Given the description of an element on the screen output the (x, y) to click on. 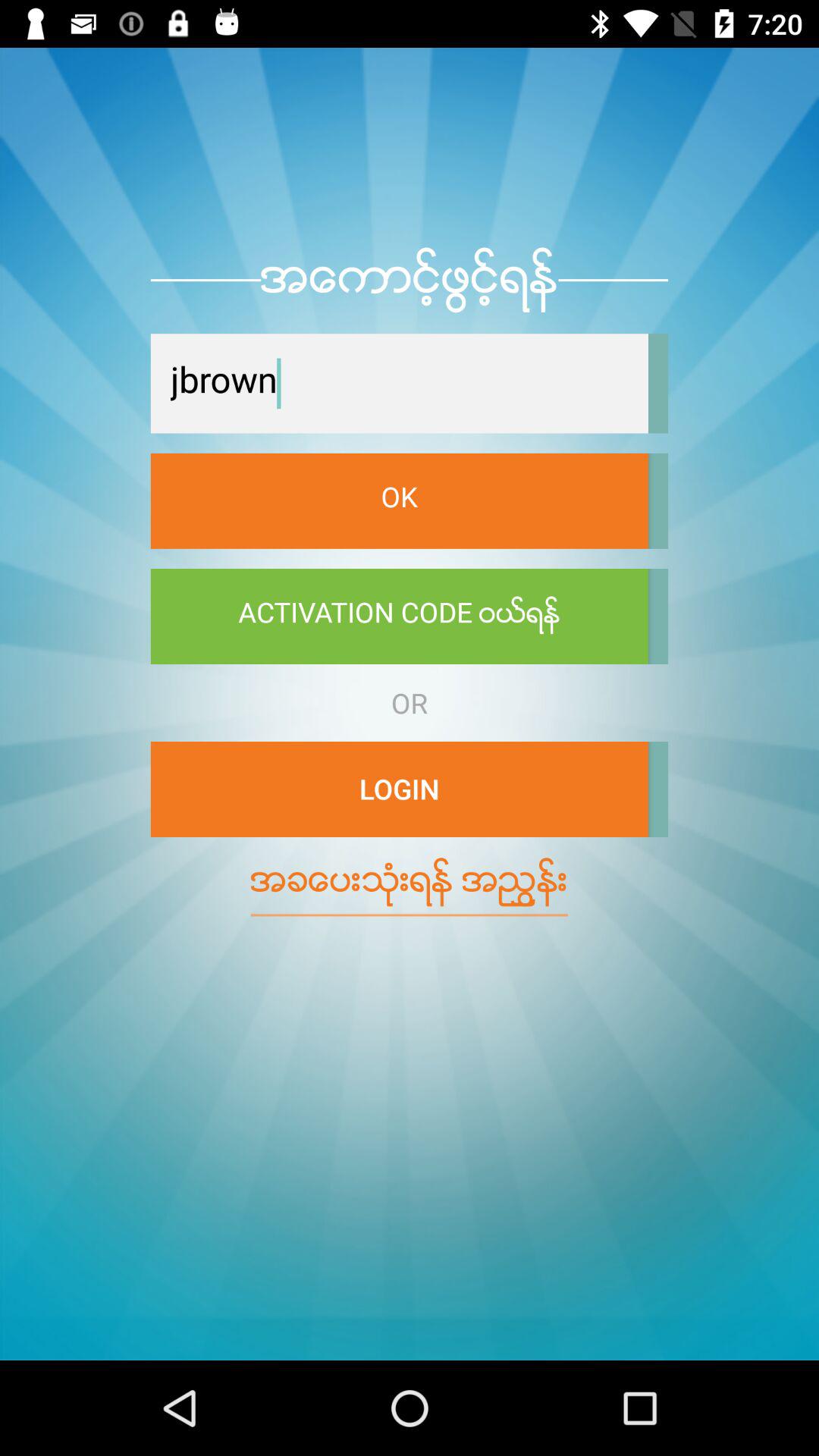
scroll until ok (399, 500)
